Given the description of an element on the screen output the (x, y) to click on. 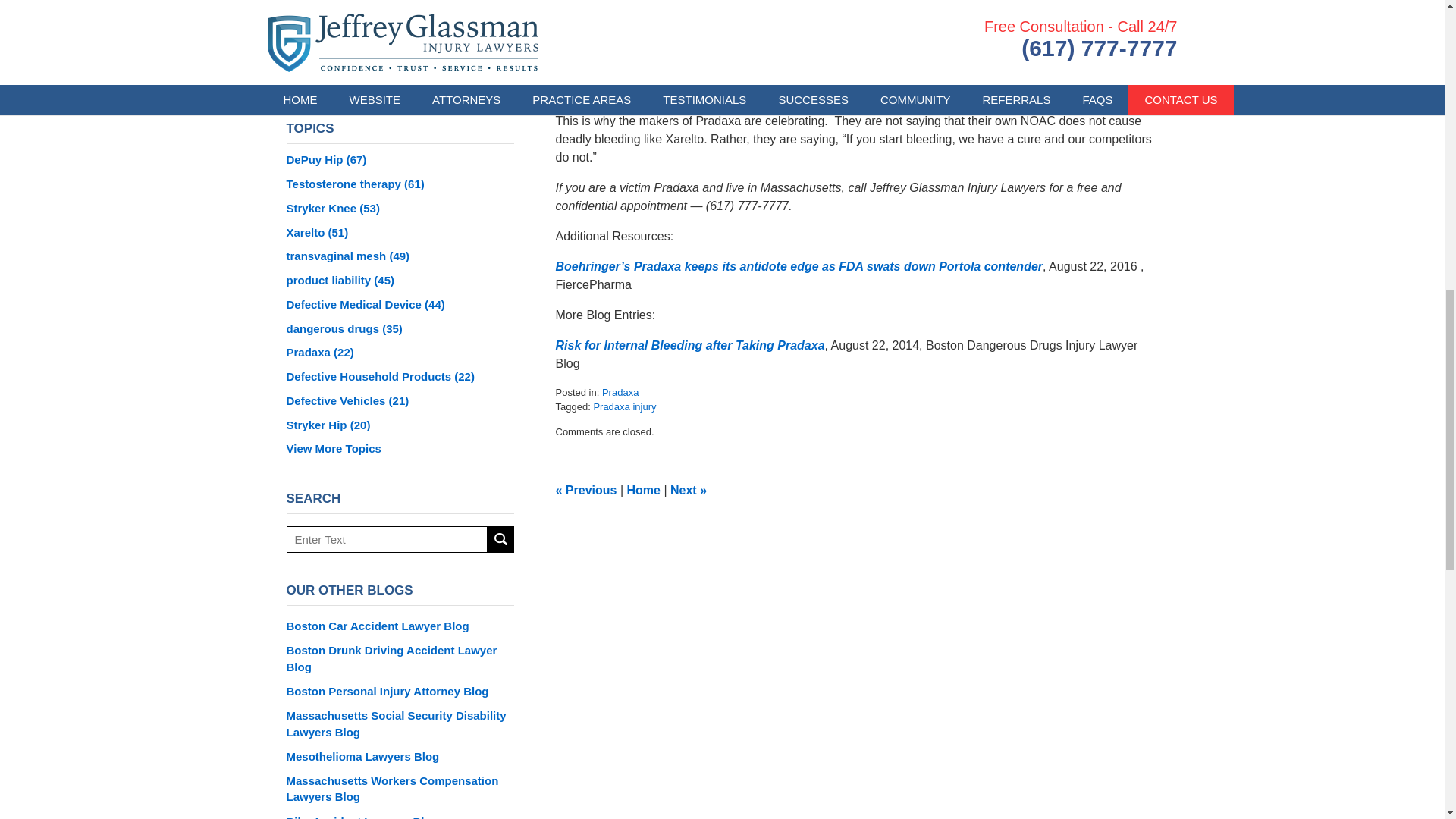
Pradaxa (620, 392)
Justia (418, 73)
Custom Artificial Knee Saves Patients from Losing Leg (687, 490)
Feed (458, 73)
Home (642, 490)
Risk for Internal Bleeding after Taking Pradaxa (689, 345)
View all posts tagged with Pradaxa injury (624, 406)
Facebook (341, 73)
Pradaxa injury (624, 406)
Twitter (379, 73)
View all posts in Pradaxa (620, 392)
